Given the description of an element on the screen output the (x, y) to click on. 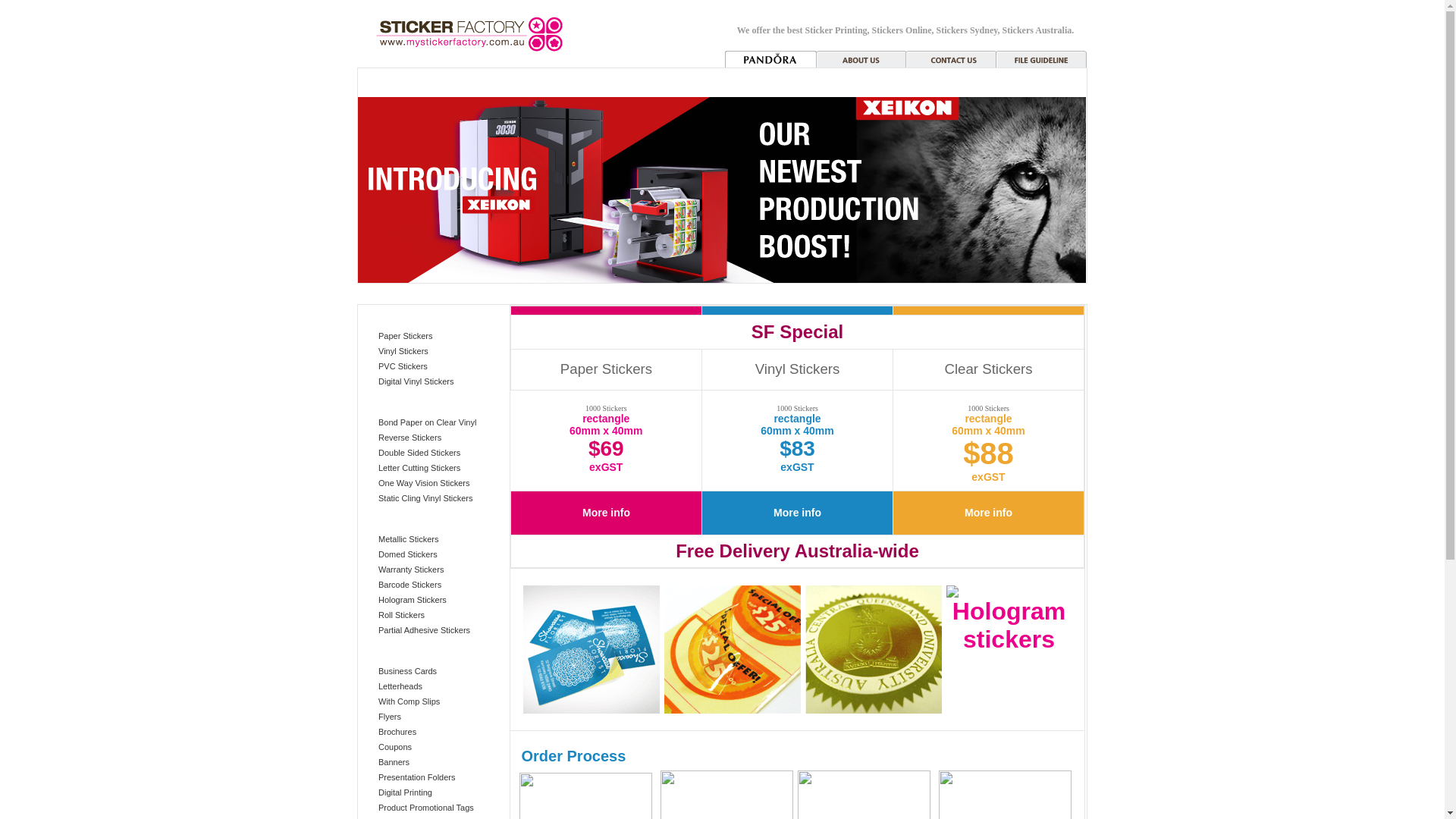
Brochures Element type: text (397, 731)
Banners Element type: text (393, 761)
Partial Adhesive Stickers Element type: text (424, 629)
Vinyl Stickers Element type: text (797, 368)
More info Element type: text (988, 512)
Barcode Stickers Element type: text (409, 584)
Reverse Stickers Element type: text (409, 437)
Domed Stickers Element type: text (407, 553)
Clear Stickers Element type: text (988, 368)
Letterheads Element type: text (400, 685)
Presentation Folders Element type: text (416, 776)
More info Element type: text (606, 512)
Paper Stickers Element type: text (405, 335)
With Comp Slips Element type: text (408, 701)
Letter Cutting Stickers Element type: text (419, 467)
Digital Vinyl Stickers Element type: text (415, 380)
Double Sided Stickers Element type: text (419, 452)
Hologram Stickers Element type: text (412, 599)
One Way Vision Stickers Element type: text (423, 482)
Static Cling Vinyl Stickers Element type: text (425, 497)
Business Cards Element type: text (407, 670)
Paper Stickers Element type: text (606, 368)
Digital Printing Element type: text (405, 792)
Vinyl Stickers Element type: text (403, 350)
Coupons Element type: text (394, 746)
Warranty Stickers Element type: text (410, 569)
Metallic Stickers Element type: text (408, 538)
Bond Paper on Clear Vinyl Element type: text (427, 421)
Roll Stickers Element type: text (401, 614)
Flyers Element type: text (389, 716)
PVC Stickers Element type: text (402, 365)
More info Element type: text (797, 512)
Product Promotional Tags Element type: text (425, 807)
